Given the description of an element on the screen output the (x, y) to click on. 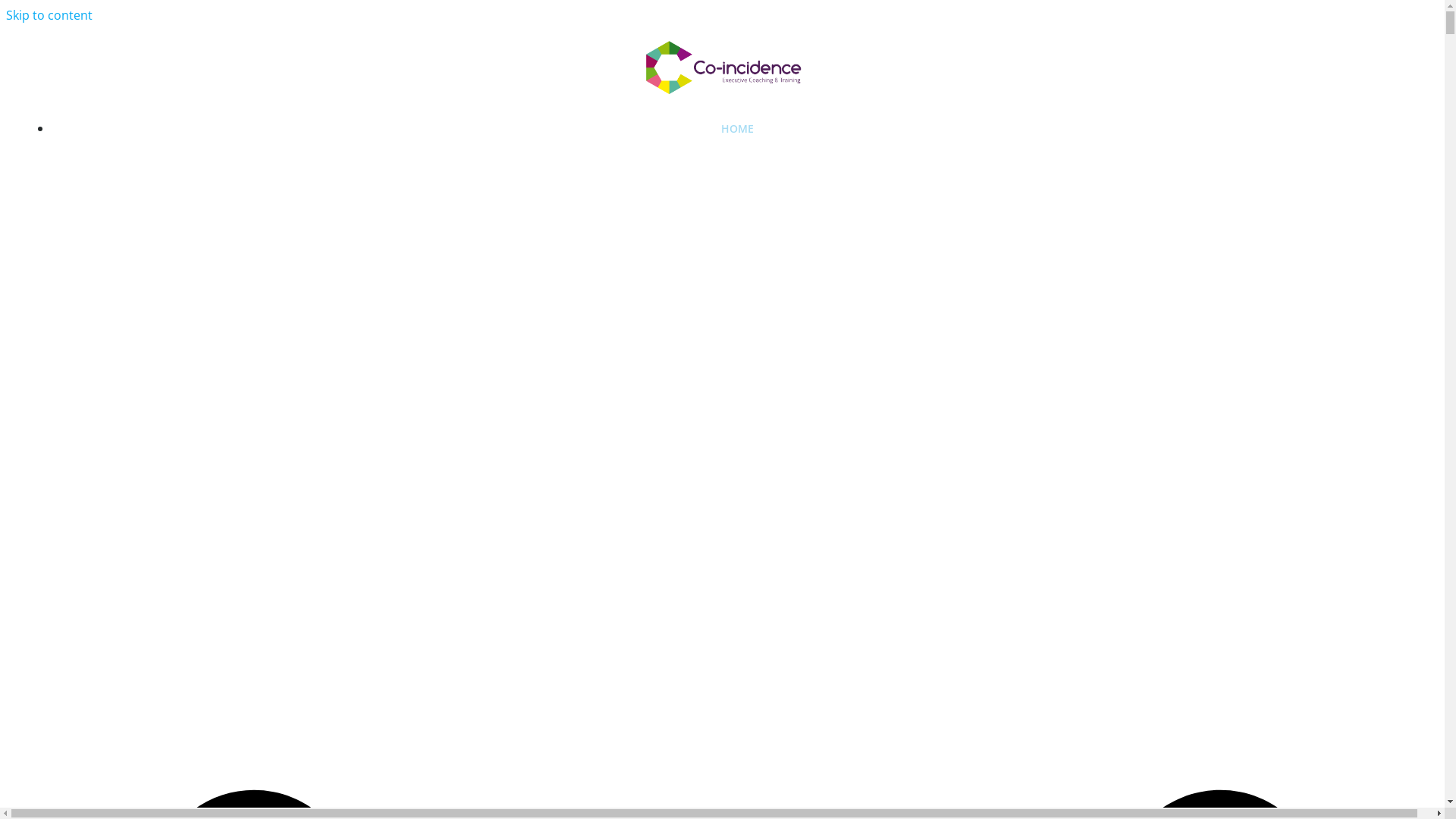
Skip to content Element type: text (49, 14)
